Given the description of an element on the screen output the (x, y) to click on. 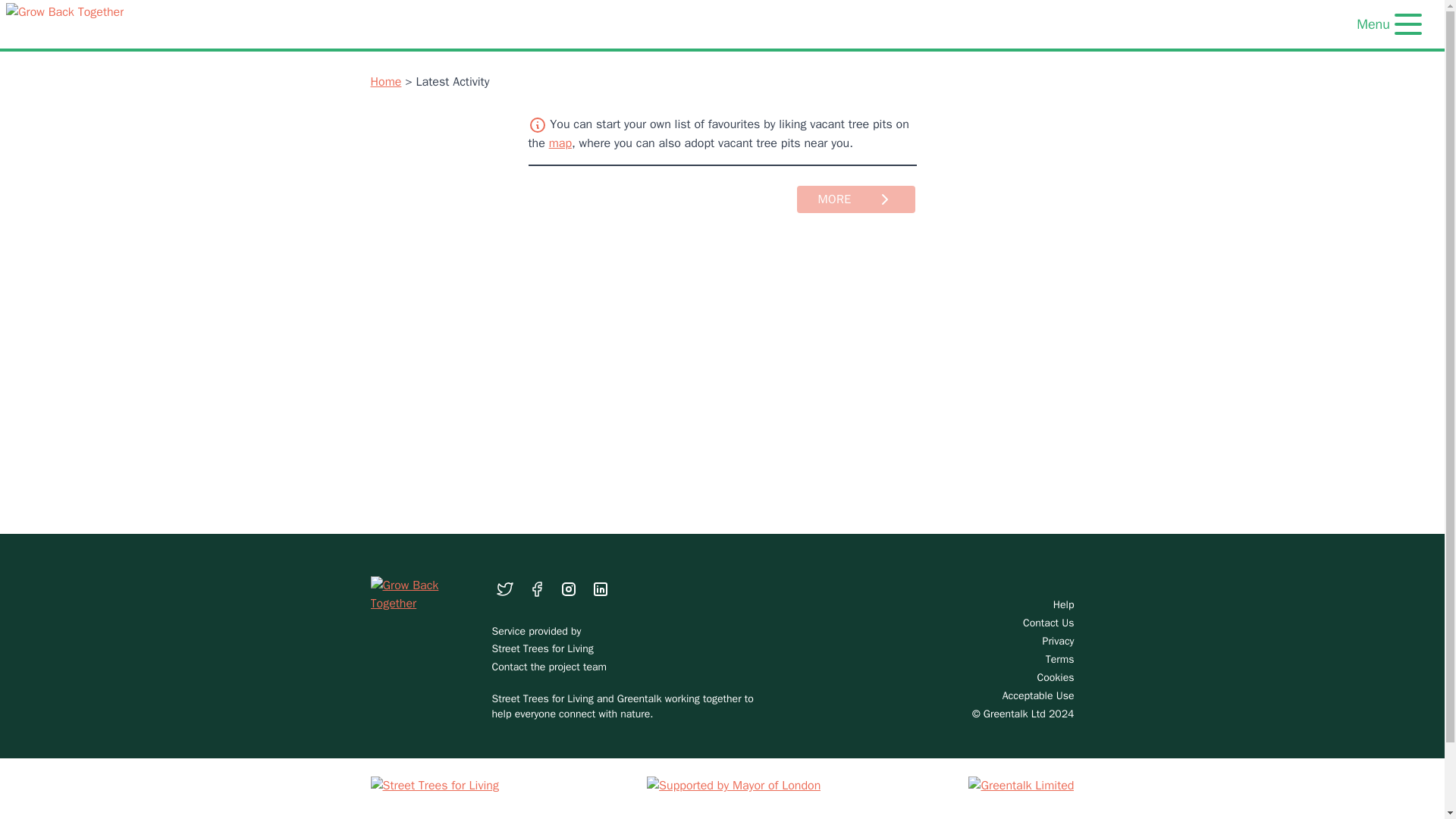
Privacy (986, 641)
Contact the project team (549, 666)
Acceptable Use (986, 695)
Home (385, 81)
MORE (854, 199)
Contact Us (986, 622)
map (560, 142)
Cookies (986, 677)
Terms (986, 659)
Street Trees for Living (542, 647)
Help (986, 604)
